Given the description of an element on the screen output the (x, y) to click on. 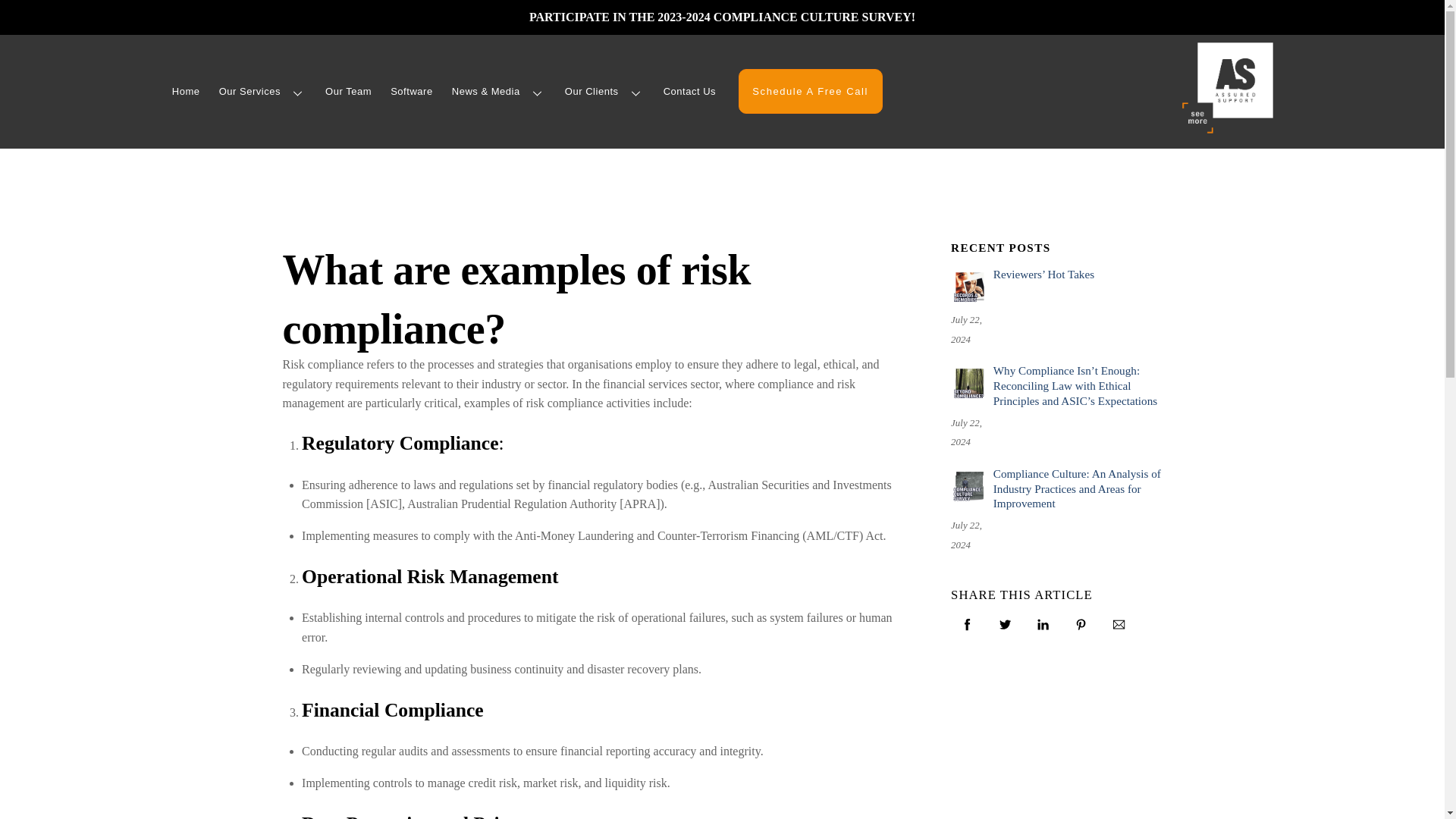
Assured Support (1227, 127)
Our Clients (604, 91)
Home (185, 91)
Schedule A Free Call (810, 90)
Our Team (348, 91)
Software (411, 91)
Assured Support (1227, 87)
Contact Us (690, 91)
Our Services (262, 91)
PARTICIPATE IN THE 2023-2024 COMPLIANCE CULTURE SURVEY (720, 16)
